Given the description of an element on the screen output the (x, y) to click on. 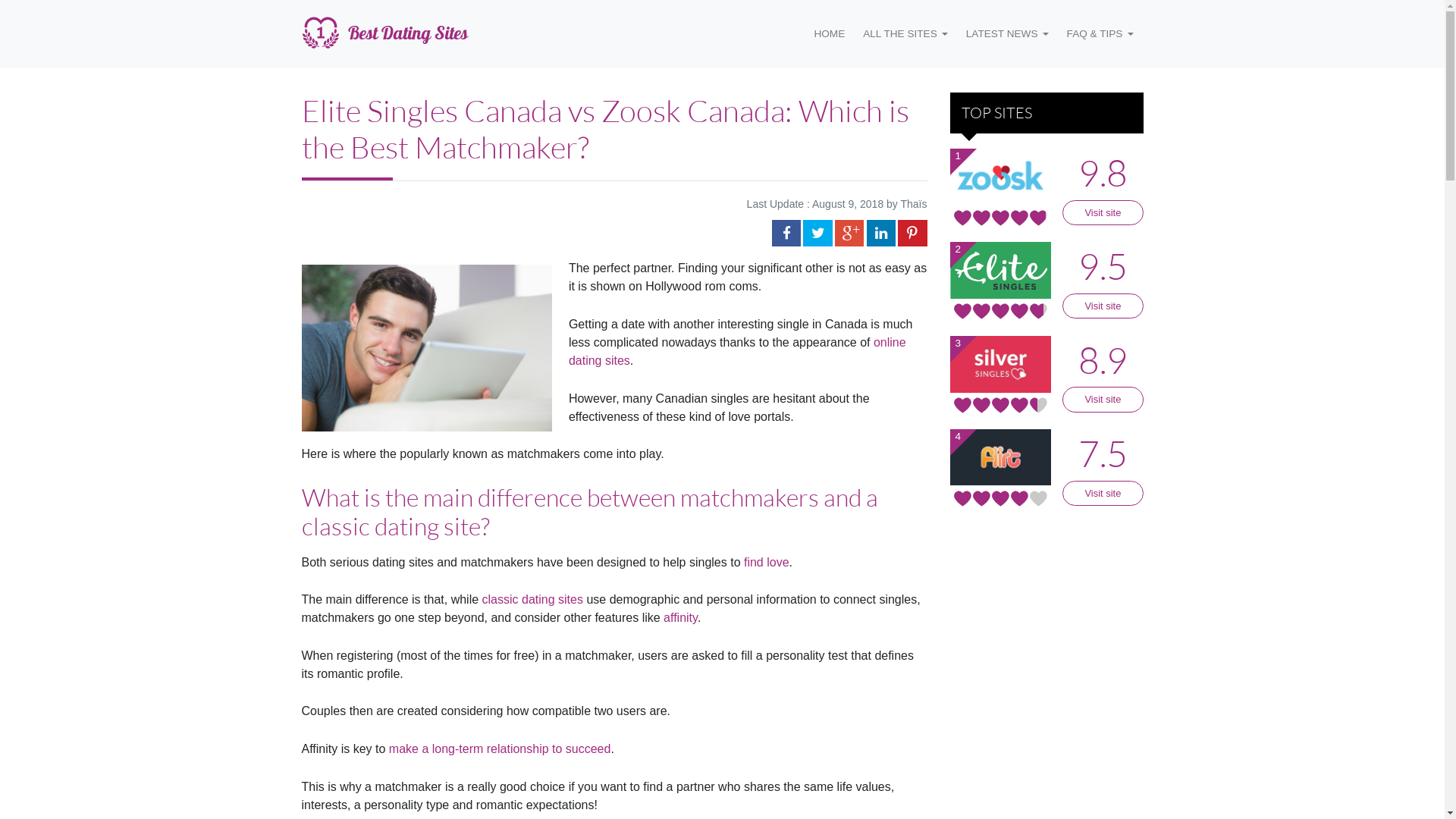
ALL THE SITES Element type: text (904, 34)
HOME Element type: text (828, 34)
FAQ & TIPS Element type: text (1099, 34)
affinity Element type: text (680, 617)
classic dating sites Element type: text (532, 599)
online dating sites Element type: text (737, 351)
Visit site Element type: text (1102, 492)
make a long-term relationship to succeed Element type: text (500, 748)
Visit site Element type: text (1102, 212)
find love Element type: text (766, 561)
Best Dating Sites Element type: text (384, 33)
Visit site Element type: text (1102, 398)
LATEST NEWS Element type: text (1007, 34)
Visit site Element type: text (1102, 305)
